Given the description of an element on the screen output the (x, y) to click on. 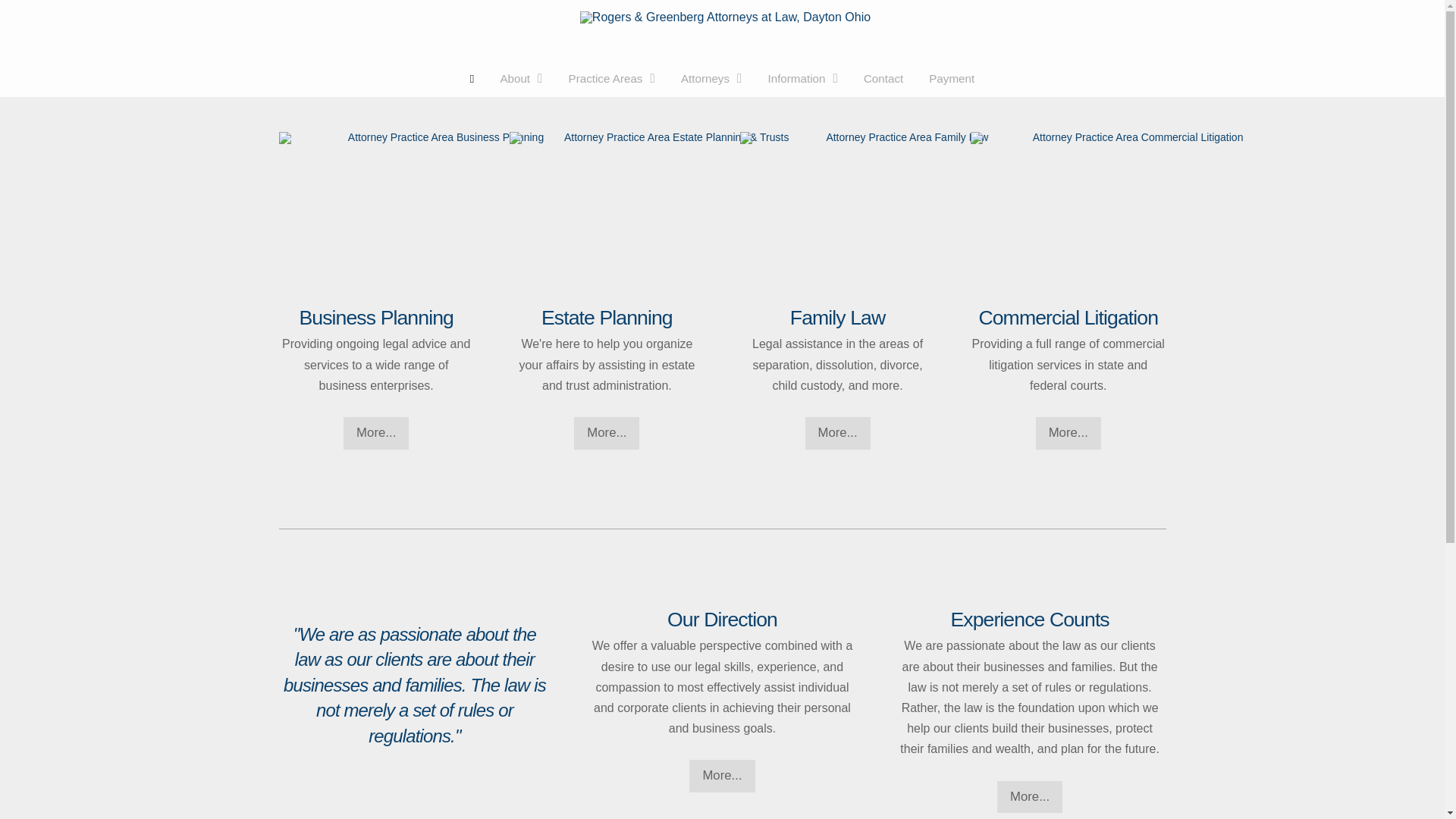
Attorneys (711, 78)
Contact (882, 78)
Payment (951, 78)
About (520, 78)
More... (606, 432)
More... (376, 432)
Business Planning (375, 317)
Estate Planning (606, 317)
Practice Areas (612, 78)
Information (802, 78)
